Given the description of an element on the screen output the (x, y) to click on. 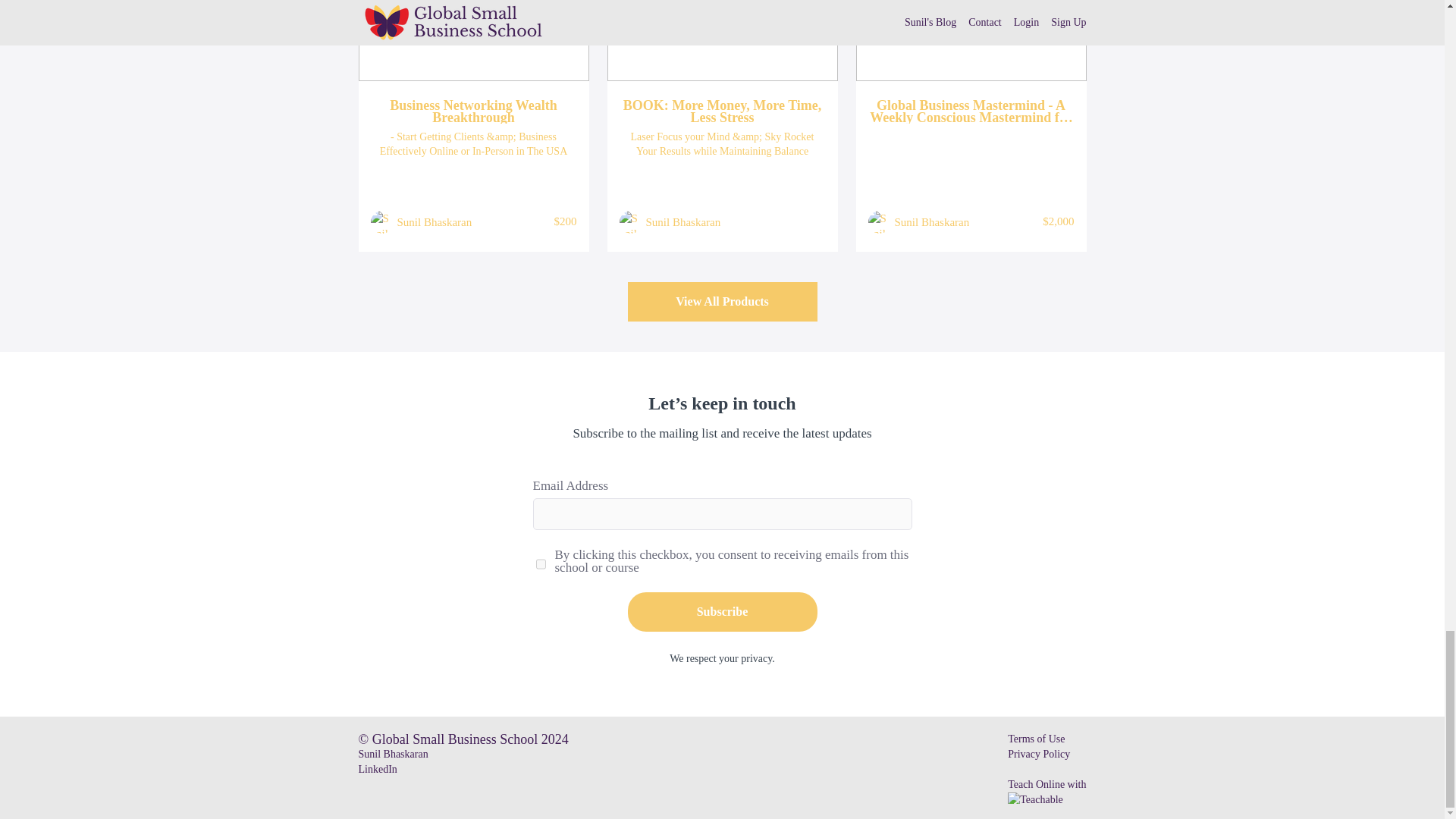
Sunil Bhaskaran (434, 221)
BOOK: More Money, More Time, Less Stress (721, 111)
Sunil Bhaskaran (683, 221)
Teach Online with (1046, 790)
Sunil Bhaskaran (932, 221)
LinkedIn (377, 768)
Terms of Use (1035, 738)
Privacy Policy (1038, 754)
Business Networking Wealth Breakthrough (472, 111)
View All Products (721, 301)
